Given the description of an element on the screen output the (x, y) to click on. 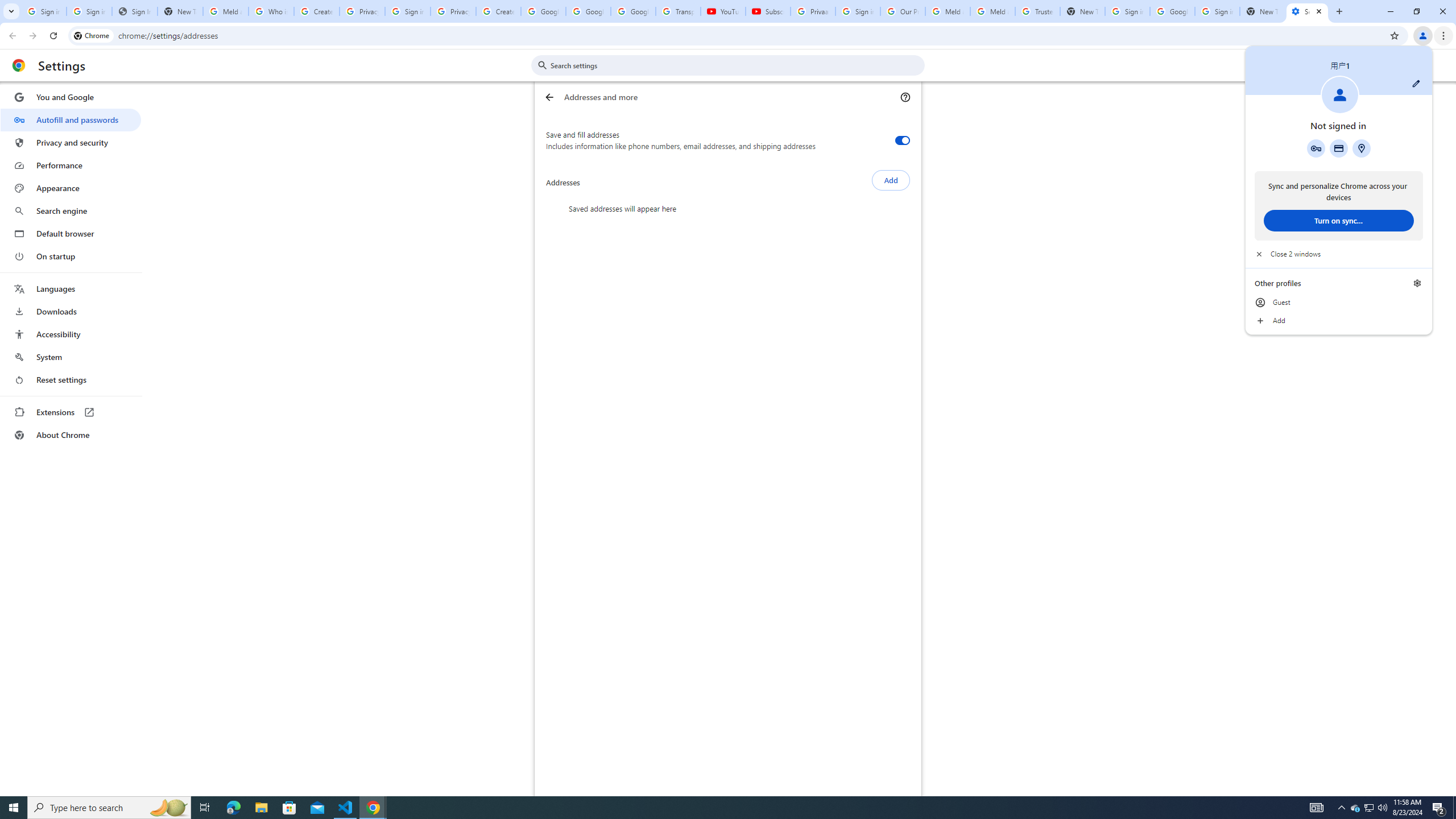
Visual Studio Code - 1 running window (1368, 807)
On startup (345, 807)
Sign in - Google Accounts (70, 255)
File Explorer (1126, 11)
Customize profile (261, 807)
Notification Chevron (1415, 83)
Sign in - Google Accounts (1341, 807)
Running applications (407, 11)
Appearance (717, 807)
